Given the description of an element on the screen output the (x, y) to click on. 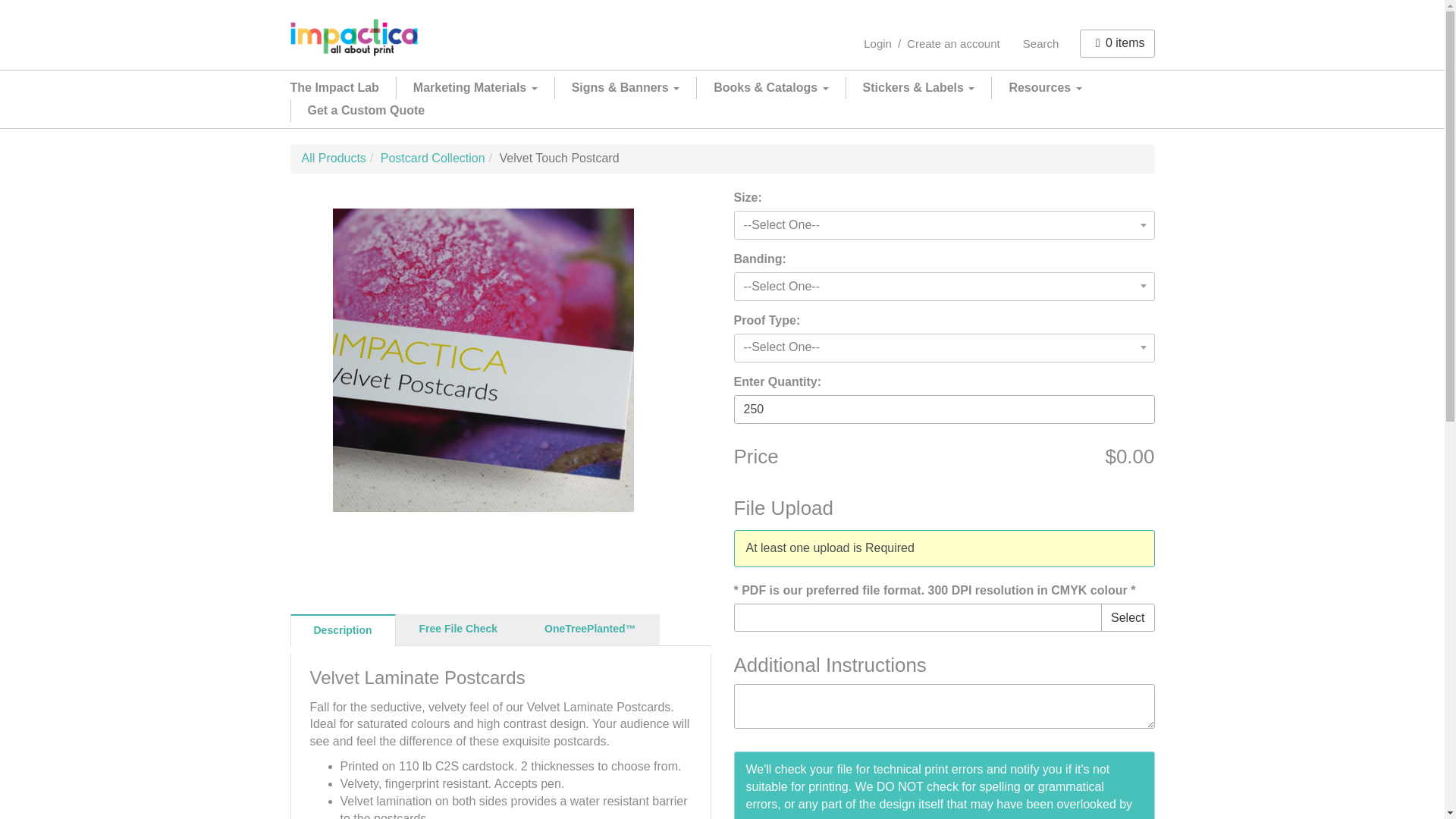
Create an account (953, 43)
Login (877, 43)
Create an account (953, 43)
250 (943, 409)
Impactica (352, 37)
0 items (1117, 43)
Search (1040, 43)
Velvet Touch Postcard (483, 359)
